Given the description of an element on the screen output the (x, y) to click on. 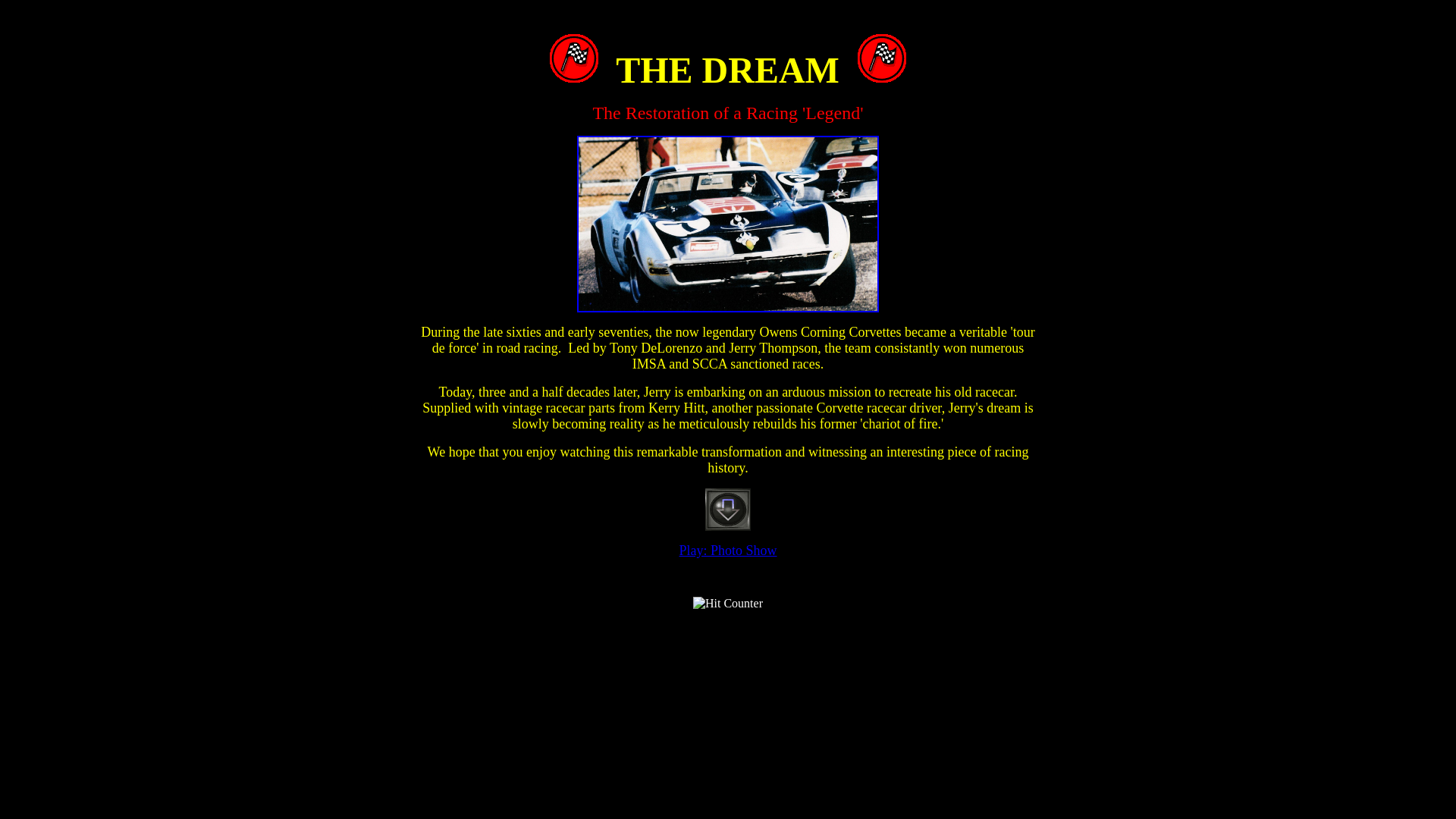
Play: Photo Show (727, 549)
